Given the description of an element on the screen output the (x, y) to click on. 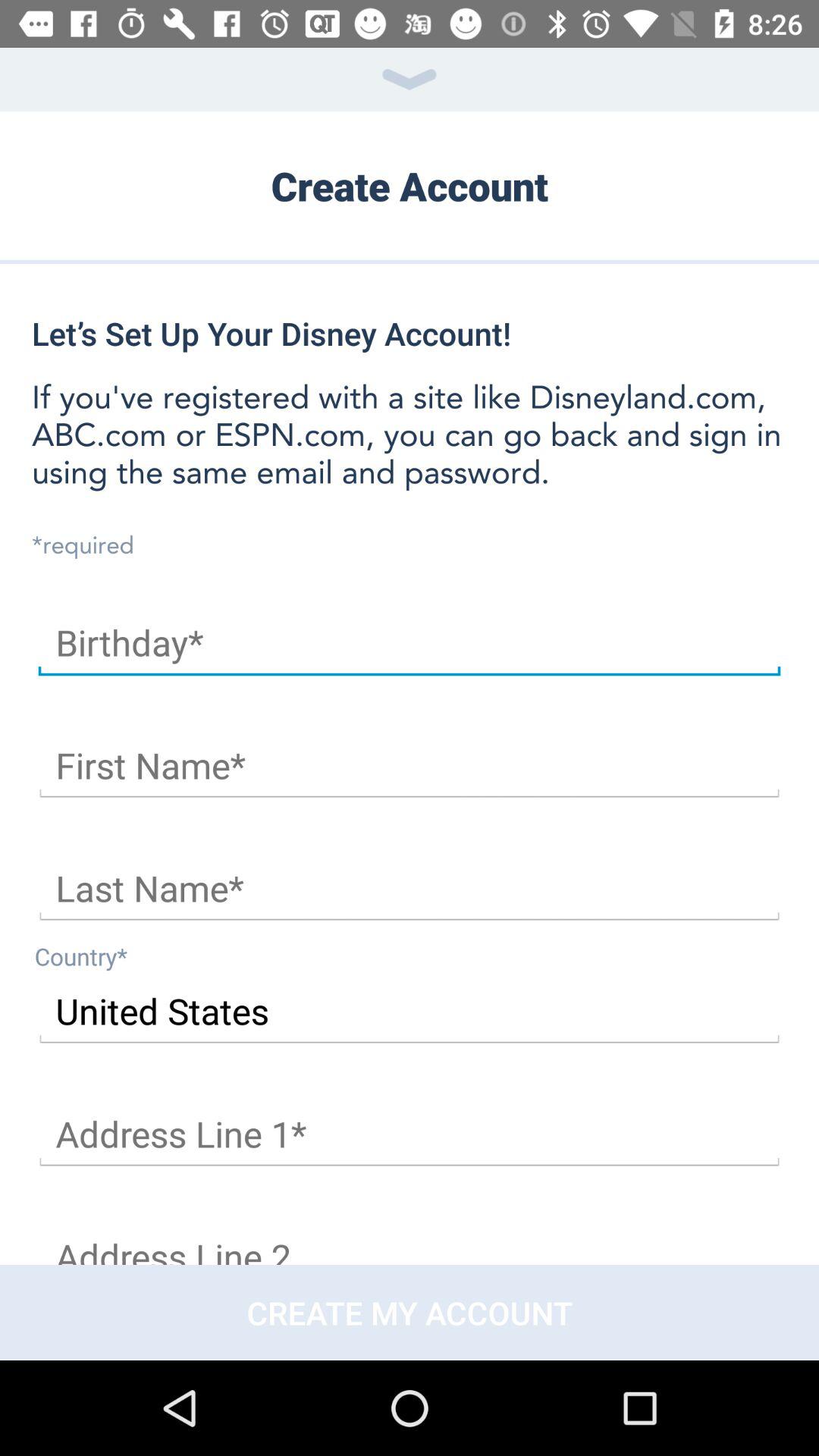
enter birthday (409, 643)
